Given the description of an element on the screen output the (x, y) to click on. 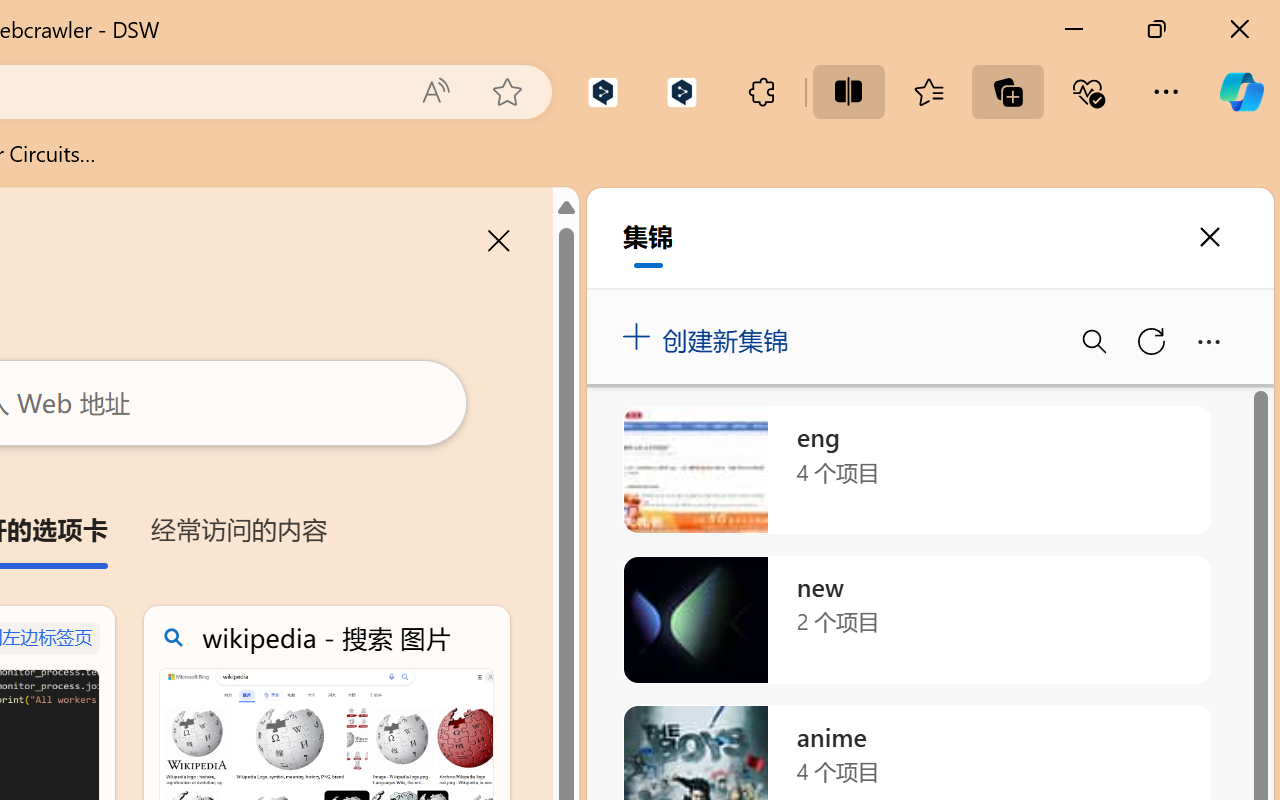
Copilot (Ctrl+Shift+.) (1241, 91)
